Given the description of an element on the screen output the (x, y) to click on. 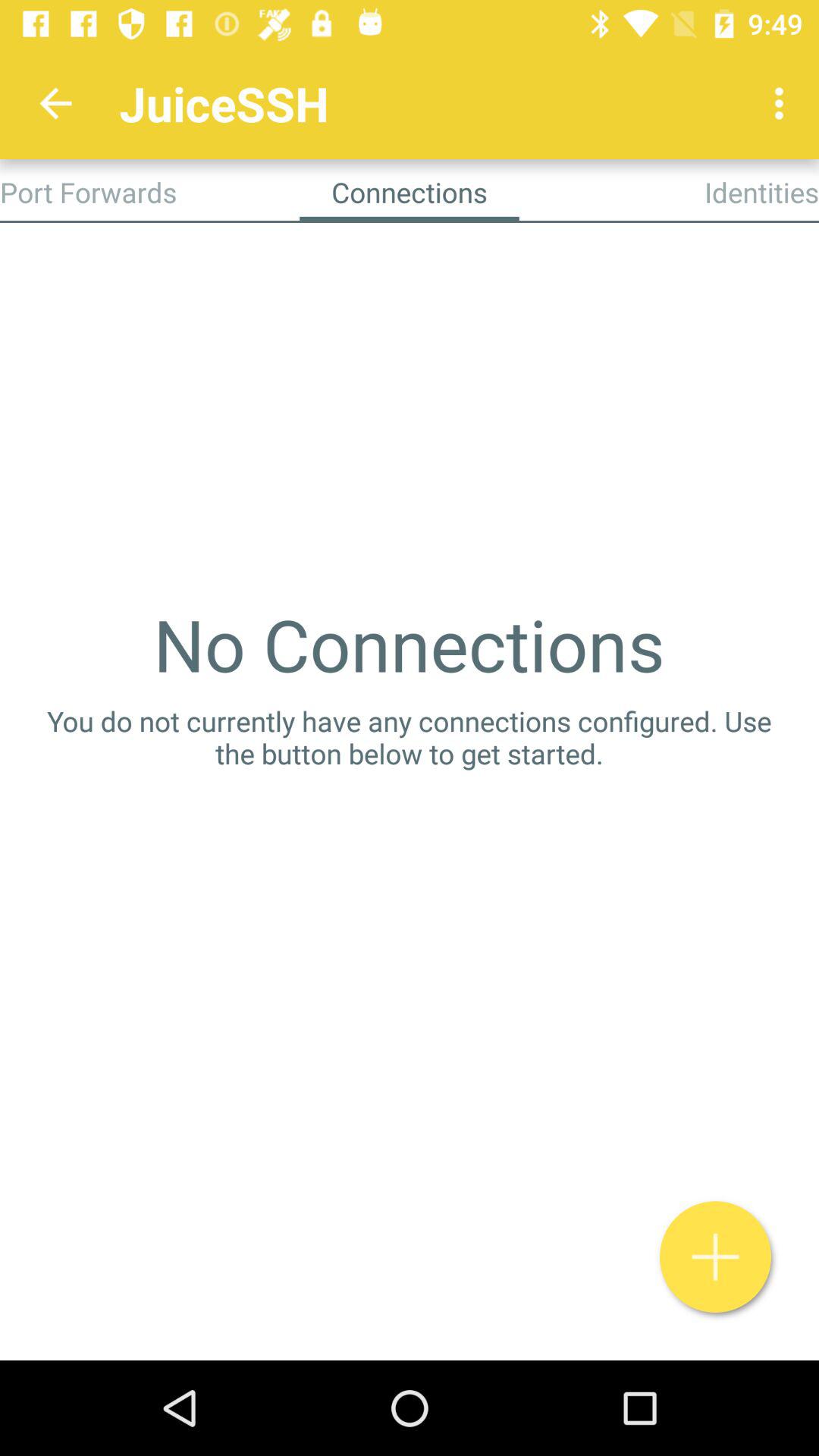
add connection (715, 1256)
